Given the description of an element on the screen output the (x, y) to click on. 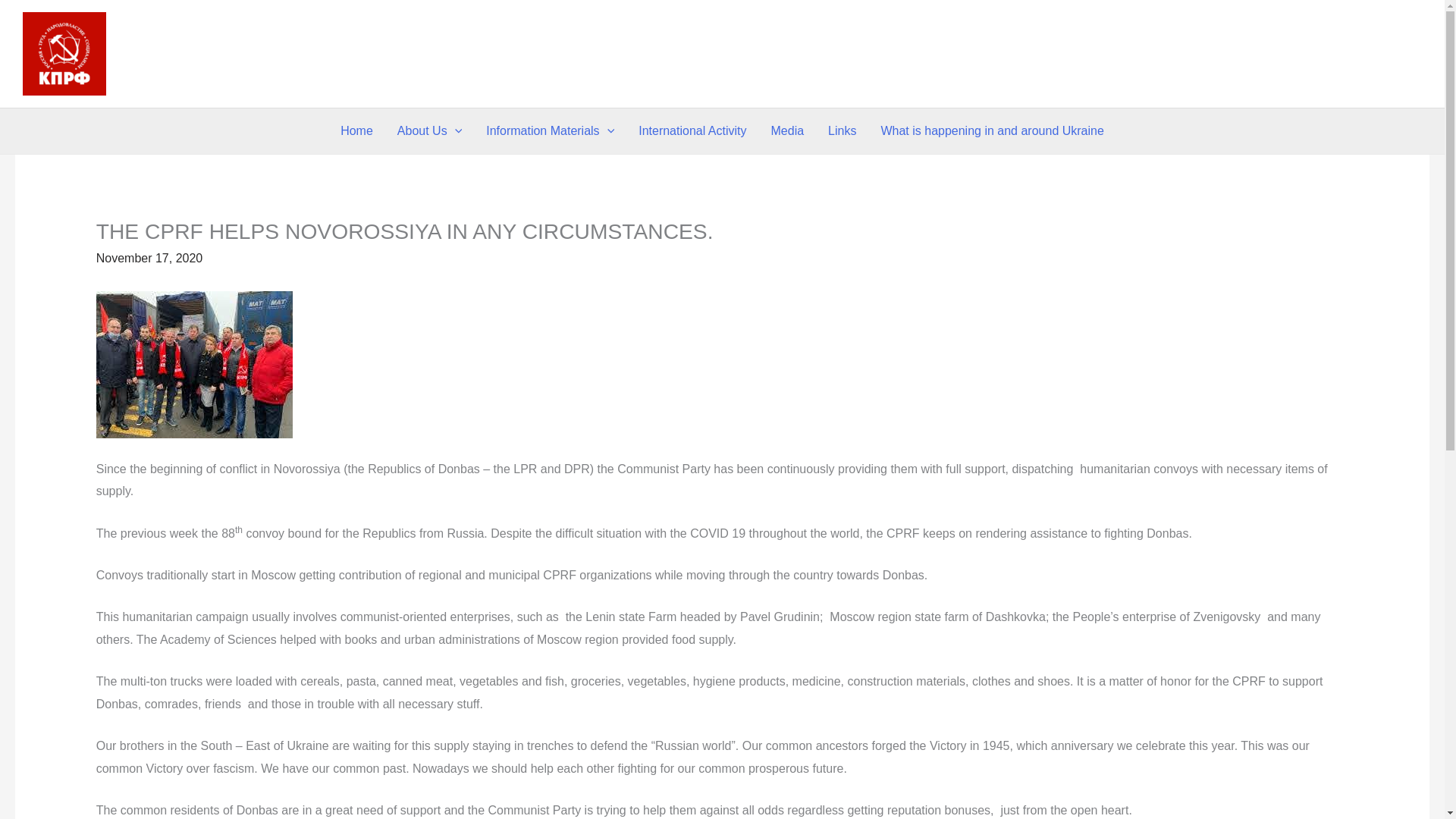
Media (786, 130)
International Activity (692, 130)
Home (357, 130)
Information Materials (550, 130)
Links (841, 130)
COMMUNIST PARTY OF THE RUSSIAN FEDERATION (218, 53)
What is happening in and around Ukraine (991, 130)
About Us (429, 130)
